Given the description of an element on the screen output the (x, y) to click on. 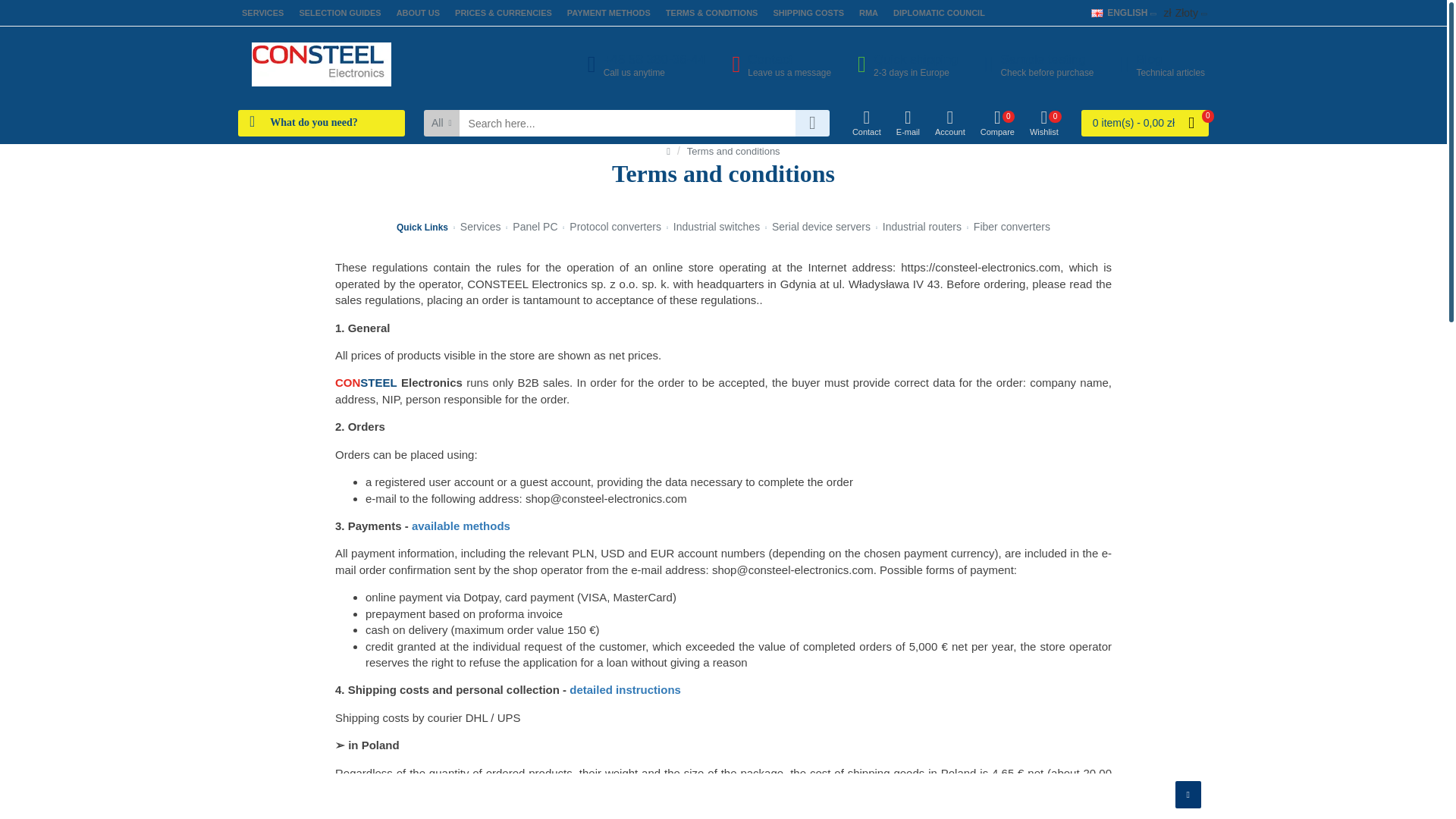
SELECTION GUIDES (339, 13)
English (1156, 63)
SHIPPING COSTS (1096, 13)
ENGLISH (775, 63)
DIPLOMATIC COUNCIL (807, 13)
SERVICES (901, 63)
RMA (1118, 12)
PAYMENT METHODS (938, 13)
CONSTEEL Electronics sp. z o.o. sp. k. (262, 13)
What do you need? (869, 13)
ABOUT US (608, 13)
